Given the description of an element on the screen output the (x, y) to click on. 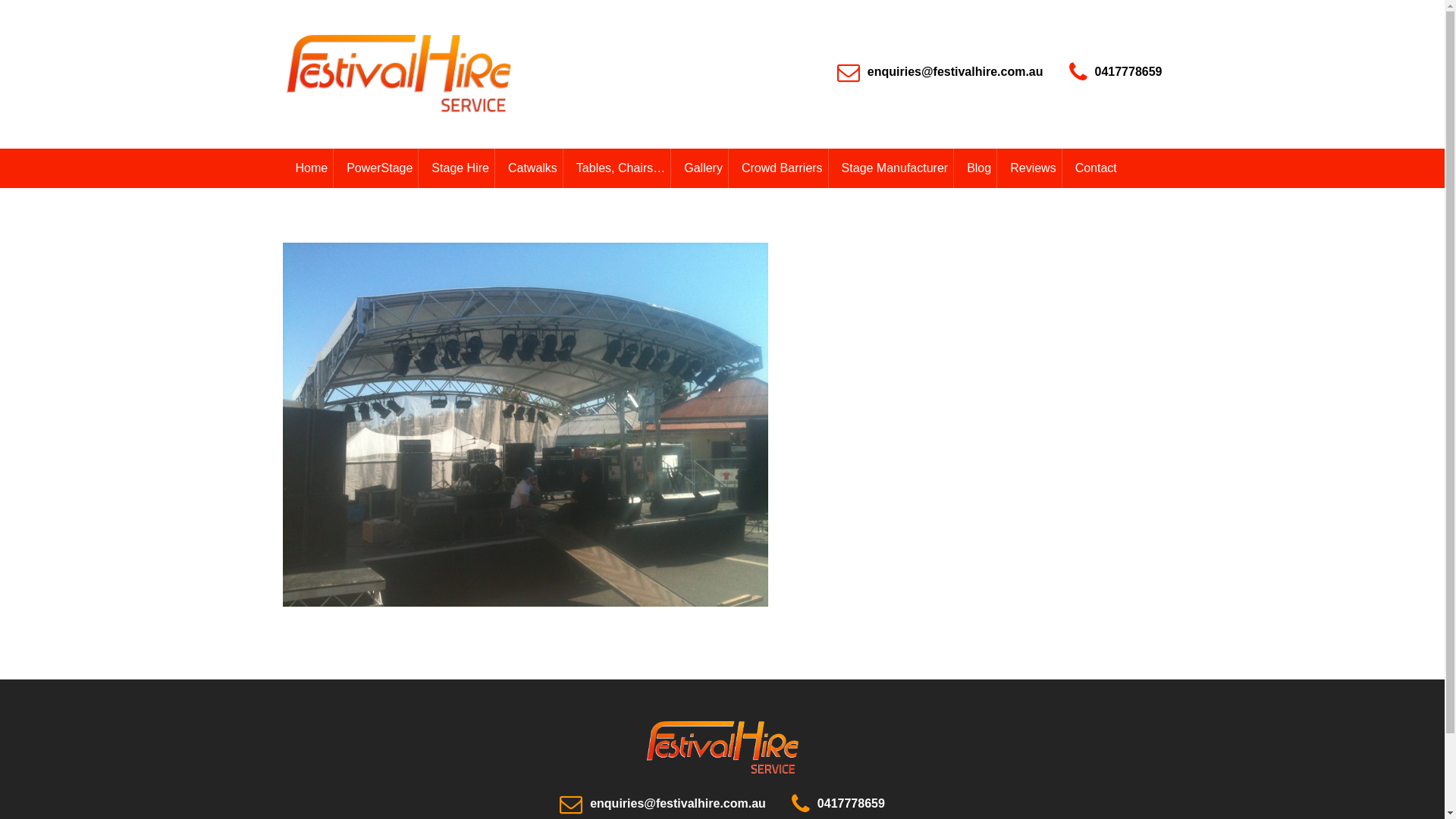
enquiries@festivalhire.com.au Element type: text (677, 803)
Catwalks Element type: text (532, 168)
Crowd Barriers Element type: text (781, 168)
Gallery Element type: text (702, 168)
PowerStage Element type: text (378, 168)
Festival Hire Element type: hover (721, 747)
Stage Manufacturer Element type: text (894, 168)
Stage Hire Element type: text (459, 168)
enquiries@festivalhire.com.au Element type: text (955, 71)
Festival Hire Element type: hover (721, 767)
Blog Element type: text (978, 168)
Festival Hire Element type: hover (397, 74)
0417778659 Element type: text (850, 803)
Home Element type: text (311, 168)
0417778659 Element type: text (1128, 71)
Reviews Element type: text (1032, 168)
Contact Element type: text (1095, 168)
Festival Hire Element type: hover (397, 110)
